Given the description of an element on the screen output the (x, y) to click on. 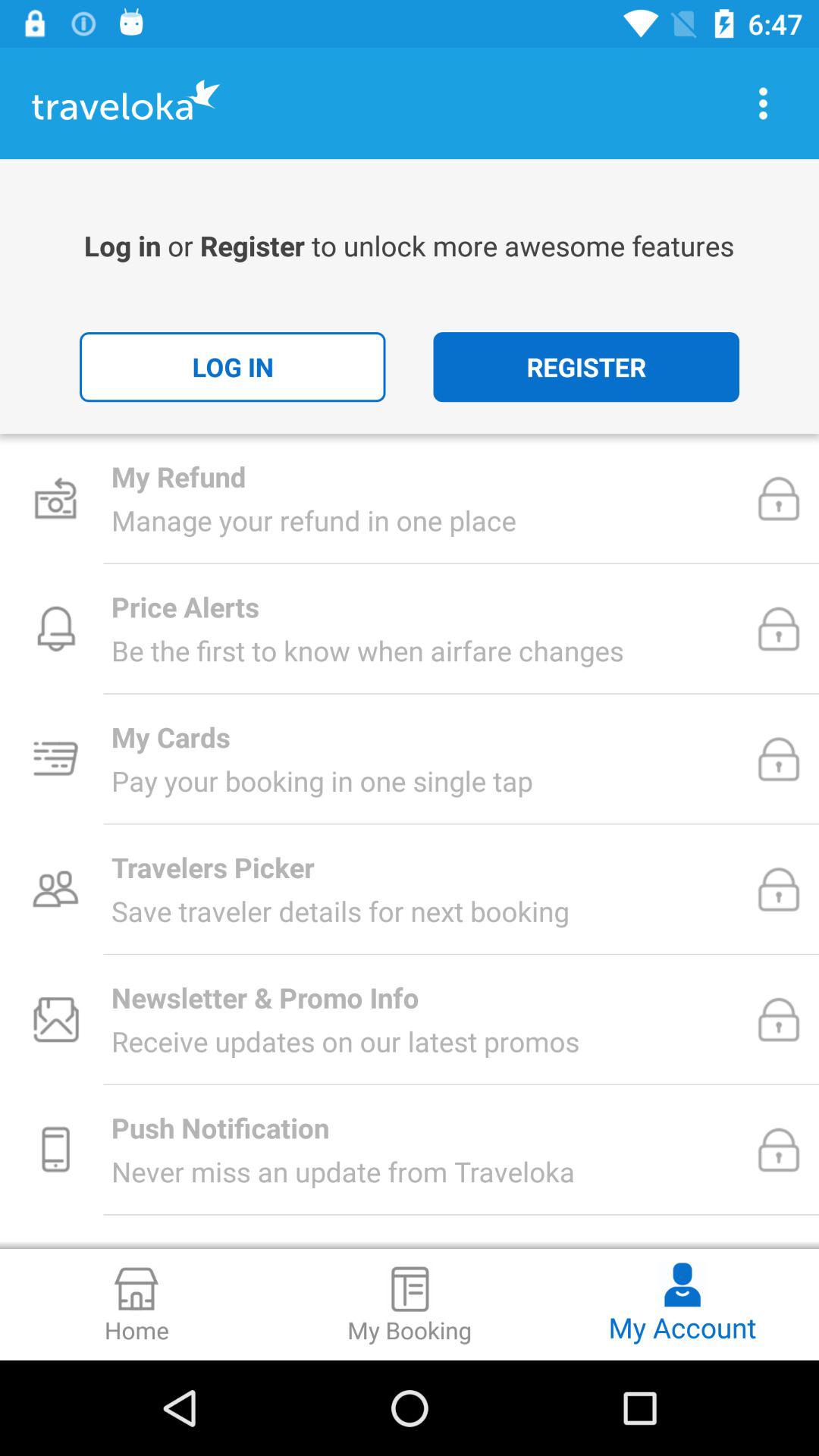
display menu options (763, 103)
